Given the description of an element on the screen output the (x, y) to click on. 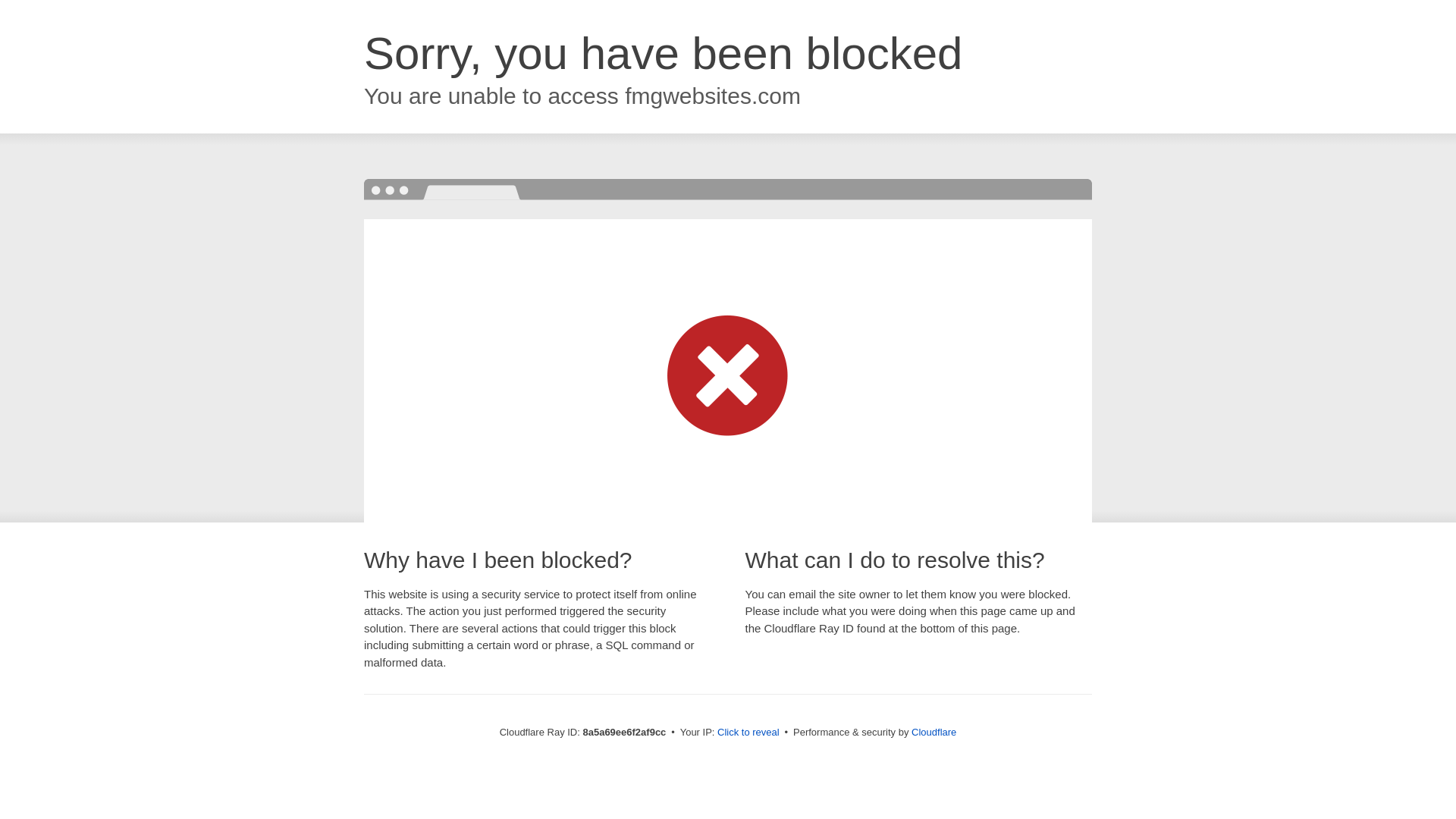
Click to reveal (747, 732)
Cloudflare (933, 731)
